Given the description of an element on the screen output the (x, y) to click on. 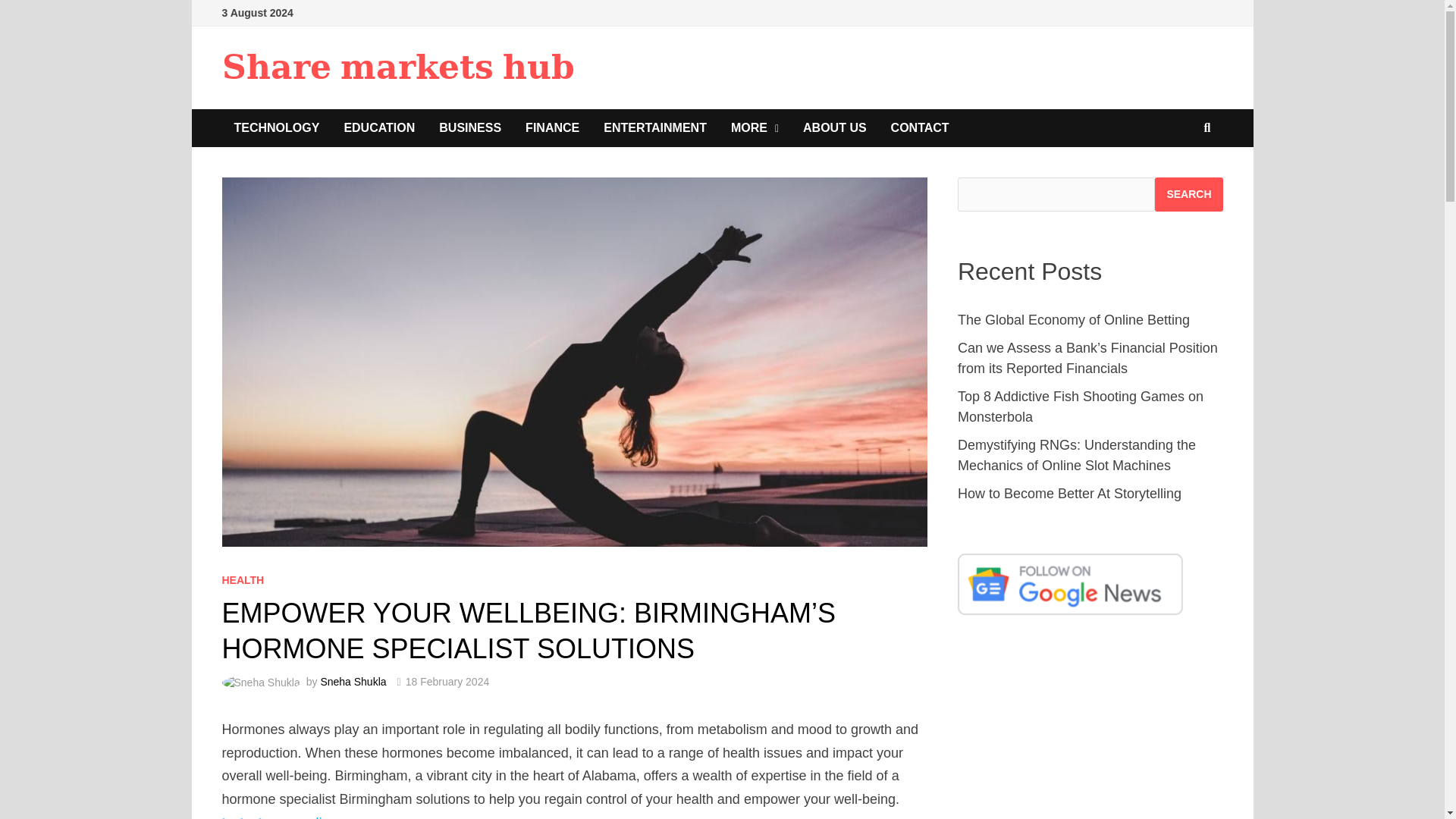
ENTERTAINMENT (655, 127)
MORE (754, 127)
EDUCATION (378, 127)
BUSINESS (469, 127)
FINANCE (552, 127)
CONTACT (919, 127)
Sneha Shukla (352, 681)
TECHNOLOGY (276, 127)
HEALTH (242, 580)
18 February 2024 (447, 681)
testosterone online (278, 816)
ABOUT US (834, 127)
